Given the description of an element on the screen output the (x, y) to click on. 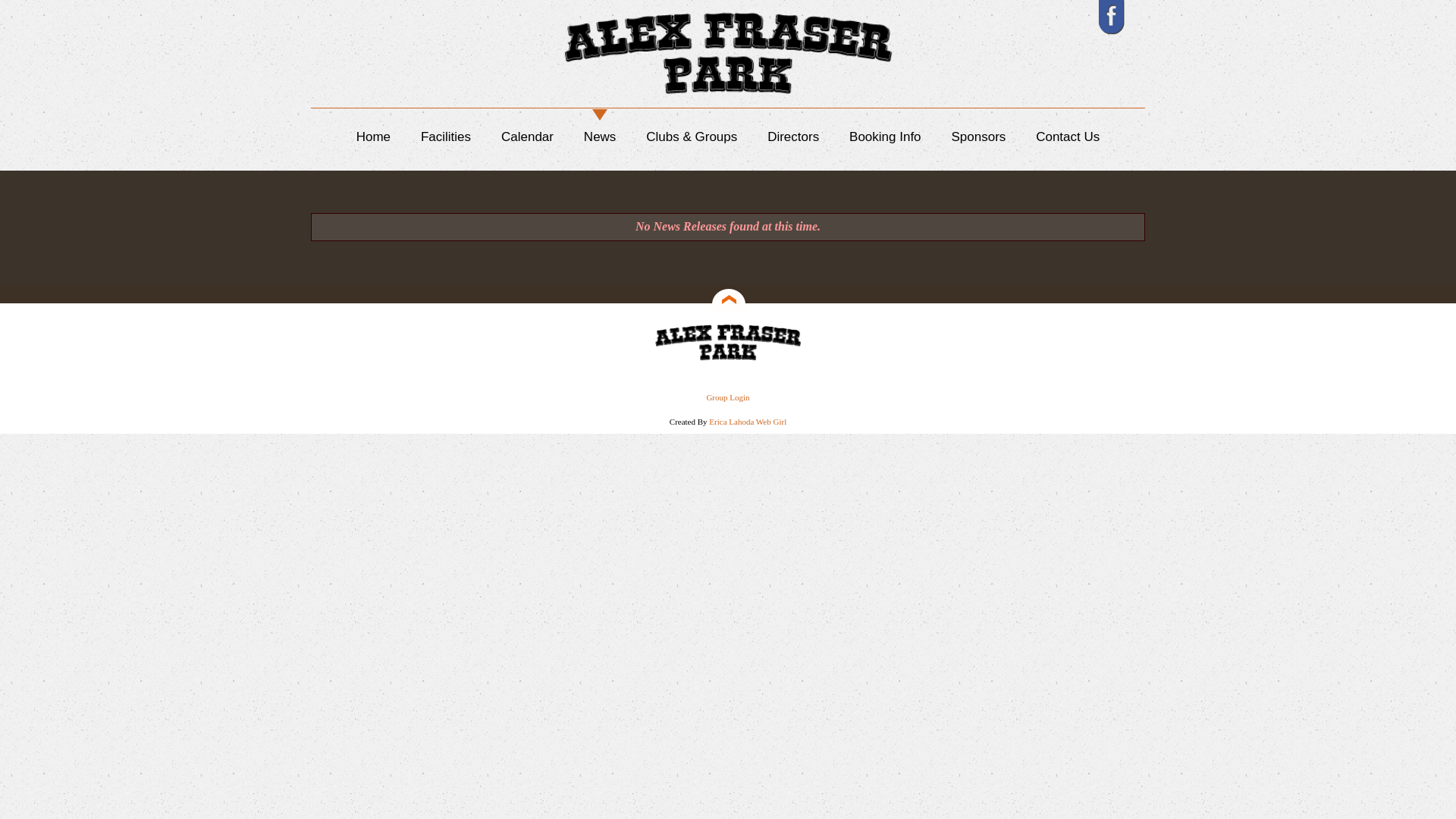
Group Login Element type: text (727, 396)
Calendar Element type: text (527, 136)
Home Element type: text (373, 136)
Directors Element type: text (793, 136)
Contact Us Element type: text (1067, 136)
Alex Fraser park Element type: hover (727, 342)
Facilities Element type: text (445, 136)
Booking Info Element type: text (885, 136)
Sponsors Element type: text (977, 136)
News Element type: text (599, 136)
Clubs & Groups Element type: text (691, 136)
Erica Lahoda Web Girl Element type: text (747, 421)
